Given the description of an element on the screen output the (x, y) to click on. 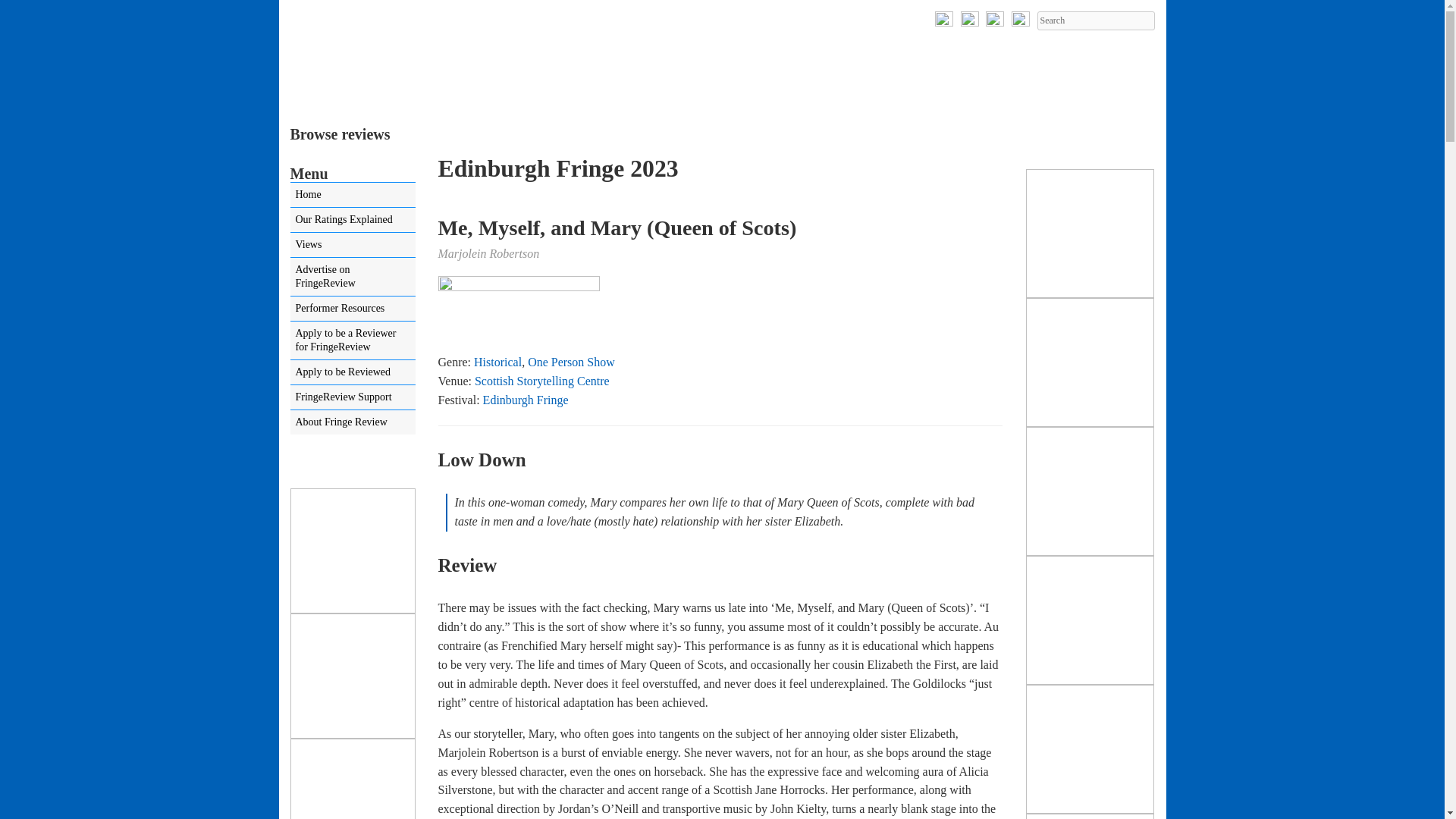
Search for: (1095, 20)
Search (1095, 20)
Apply to be Reviewed (351, 372)
Our Ratings Explained (351, 219)
Search (1095, 20)
Home (351, 194)
Views (351, 244)
Apply to be a Reviewer for FringeReview (351, 340)
About Fringe Review (351, 422)
Advertise on FringeReview (351, 276)
Performer Resources (351, 308)
FringeReview Support (351, 396)
